Given the description of an element on the screen output the (x, y) to click on. 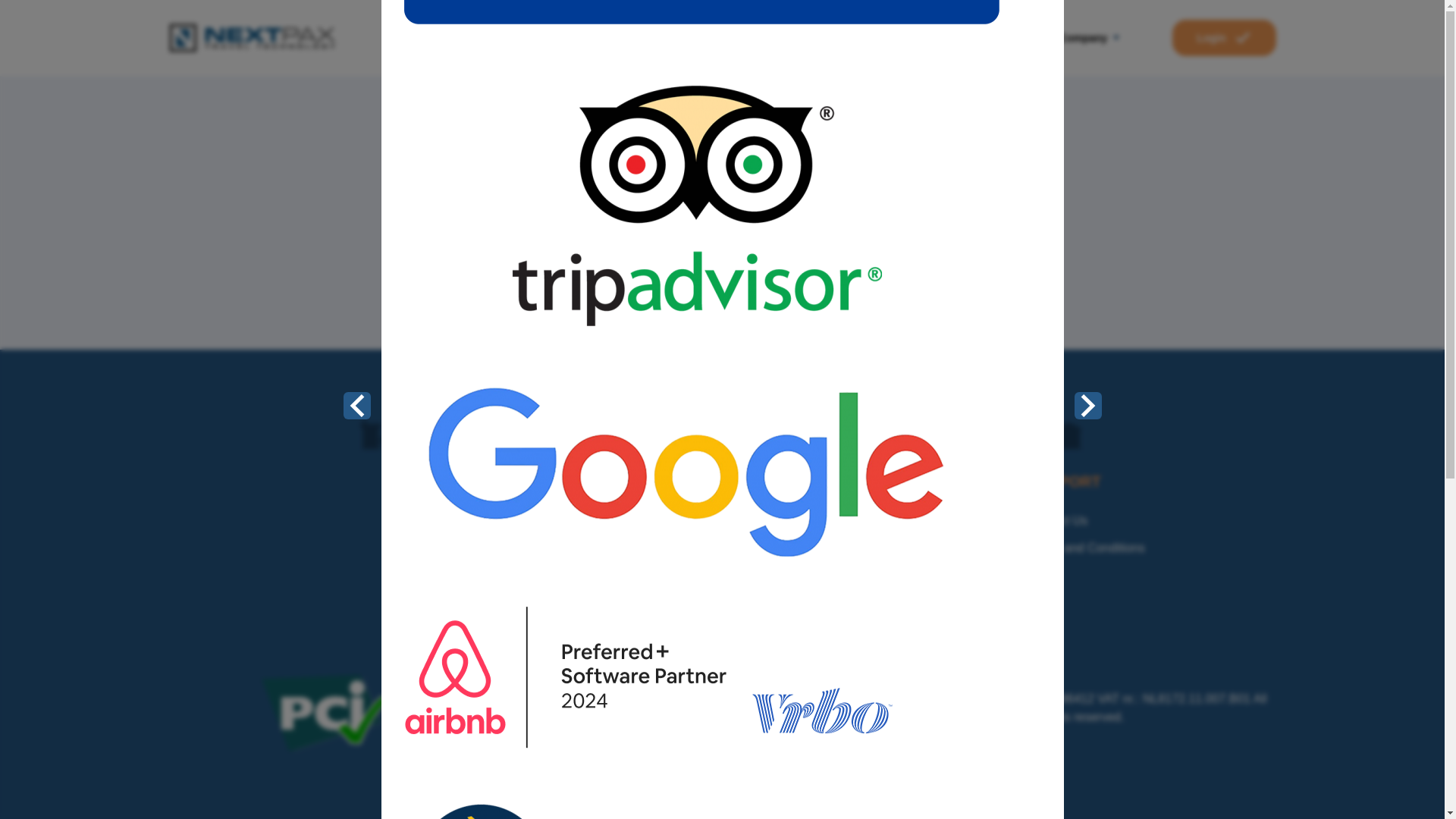
Accommodations (823, 38)
Login (1223, 37)
Integrations (925, 38)
Channel manager (706, 38)
